Given the description of an element on the screen output the (x, y) to click on. 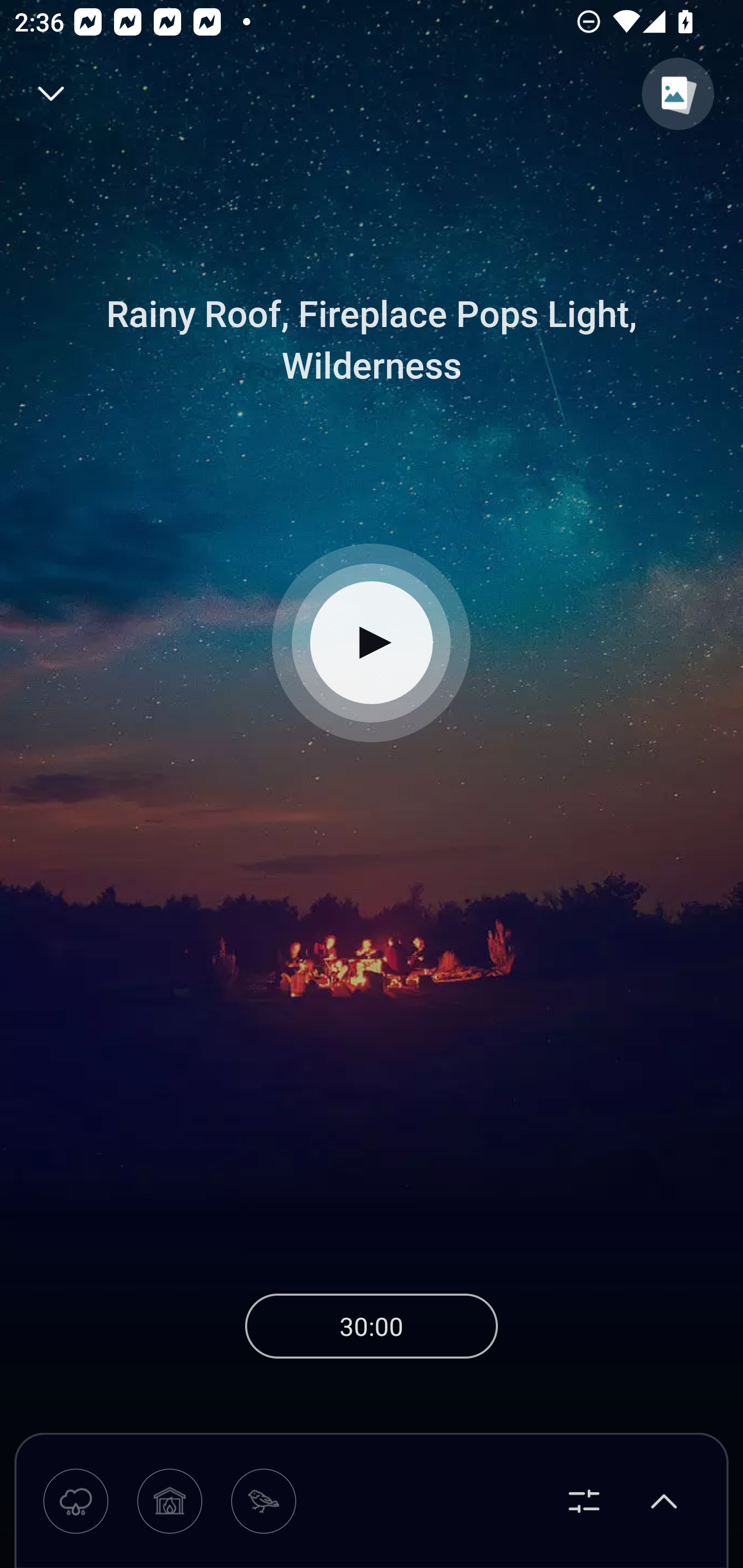
30:00 (371, 1325)
